Given the description of an element on the screen output the (x, y) to click on. 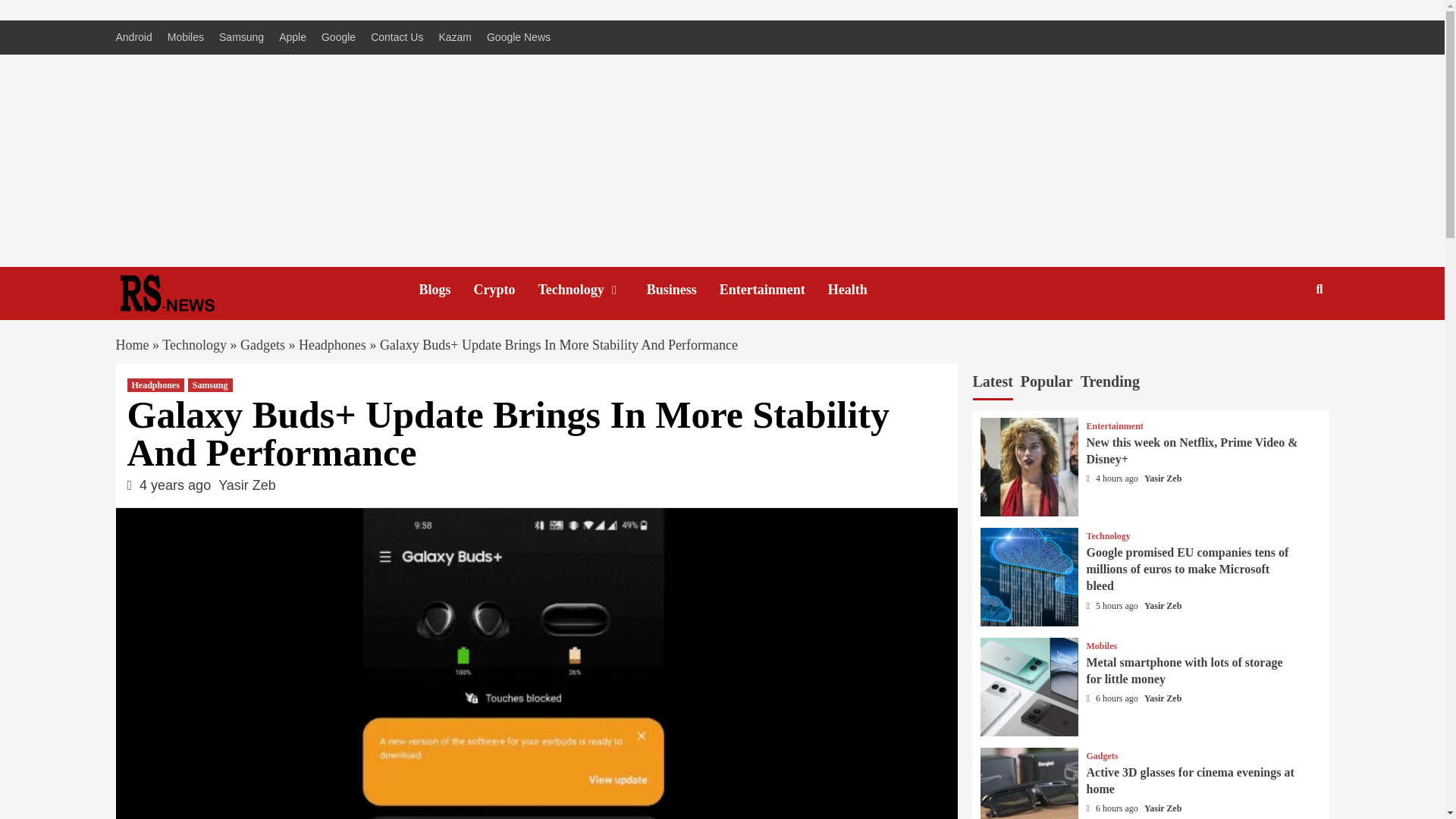
Android (136, 37)
Contact Us (396, 37)
Yasir Zeb (247, 485)
Kazam (454, 37)
Home (131, 344)
Google (338, 37)
Technology (592, 289)
Entertainment (773, 289)
Search (1283, 338)
Samsung (209, 385)
Crypto (506, 289)
Apple (292, 37)
Business (682, 289)
Samsung (240, 37)
